Given the description of an element on the screen output the (x, y) to click on. 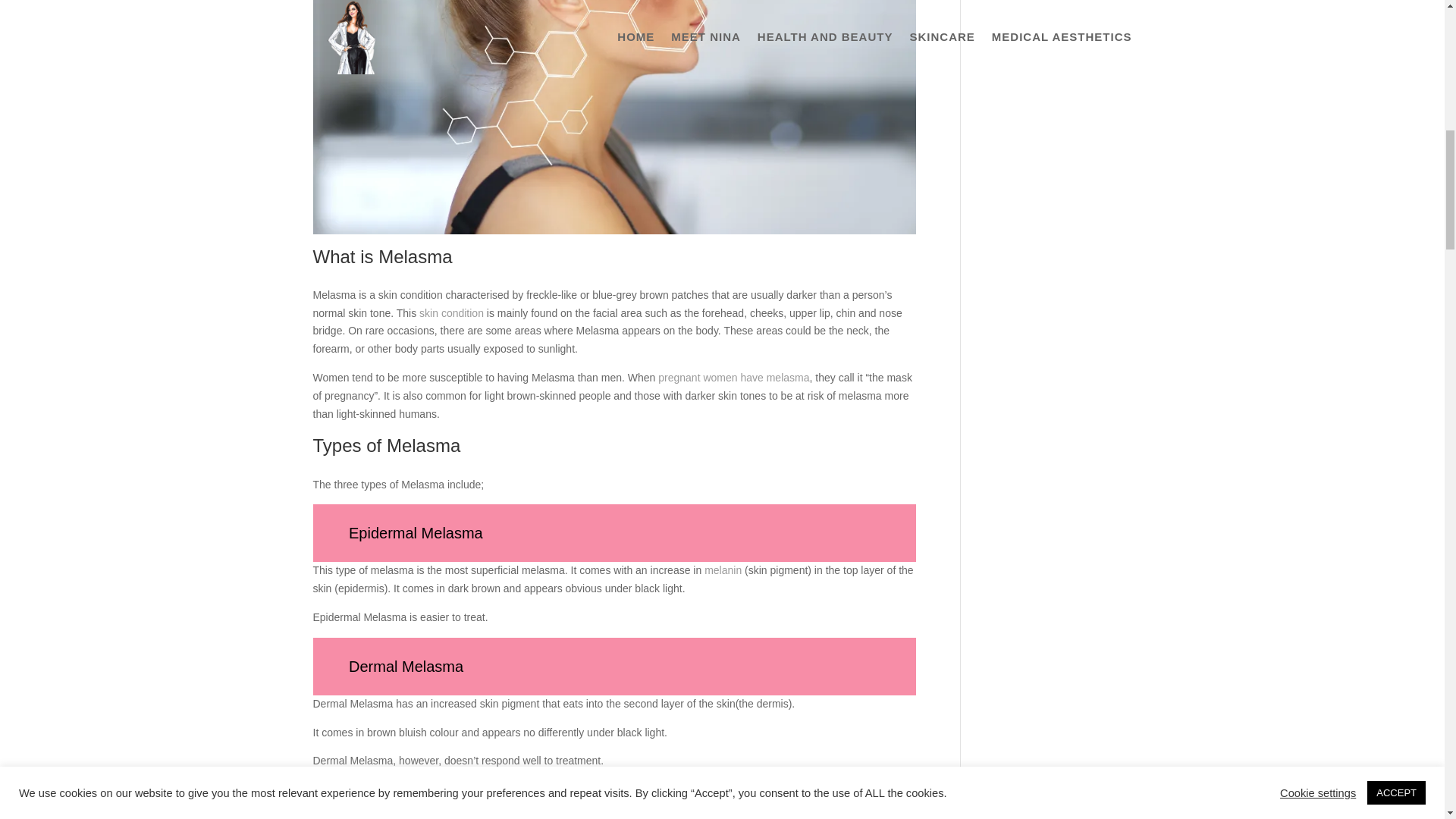
skin condition (451, 313)
melanin (721, 570)
pregnant women have melasma (733, 377)
